Given the description of an element on the screen output the (x, y) to click on. 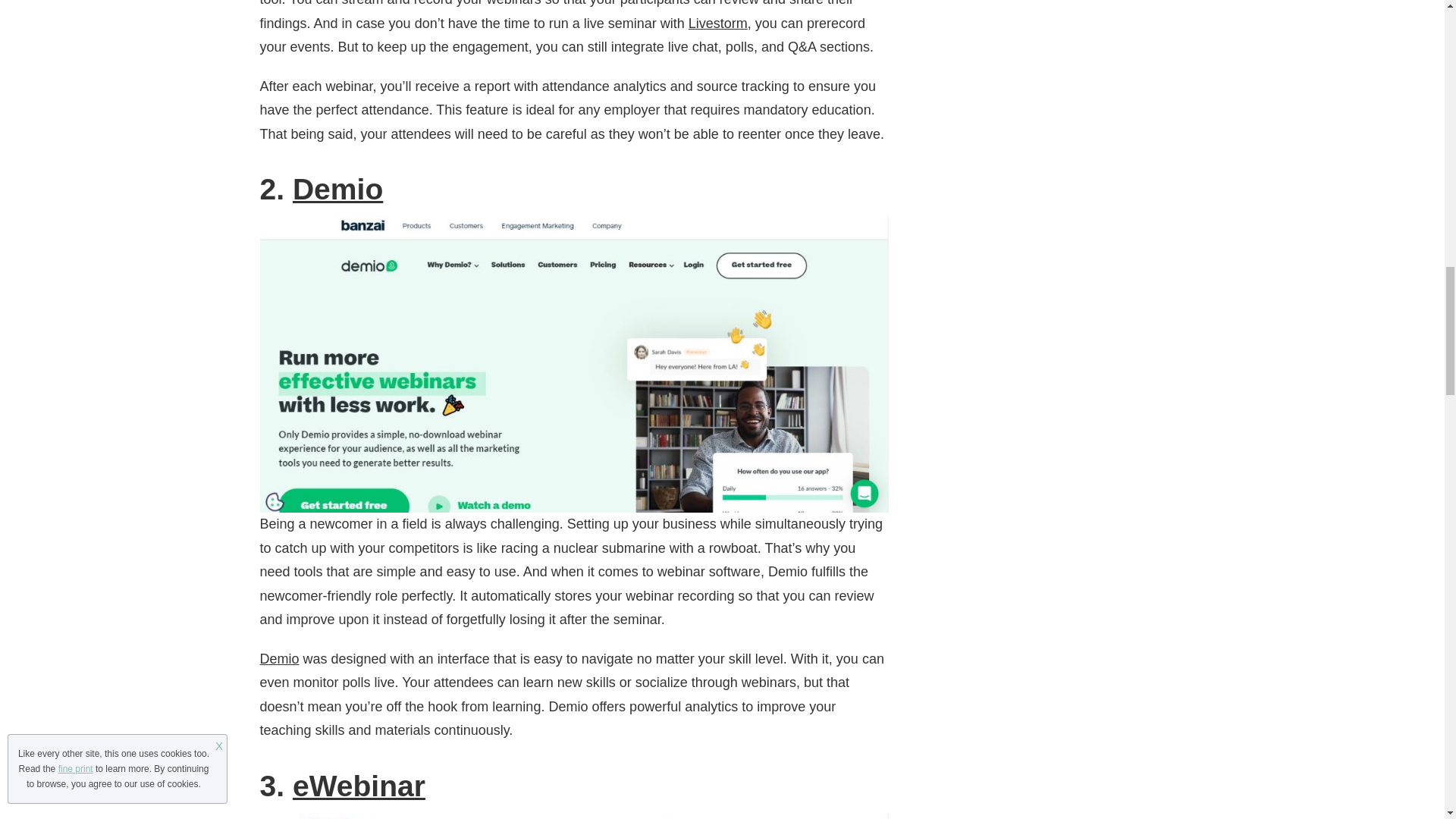
Livestorm (718, 23)
eWebinar (358, 785)
Demio (278, 658)
Demio (337, 188)
